Given the description of an element on the screen output the (x, y) to click on. 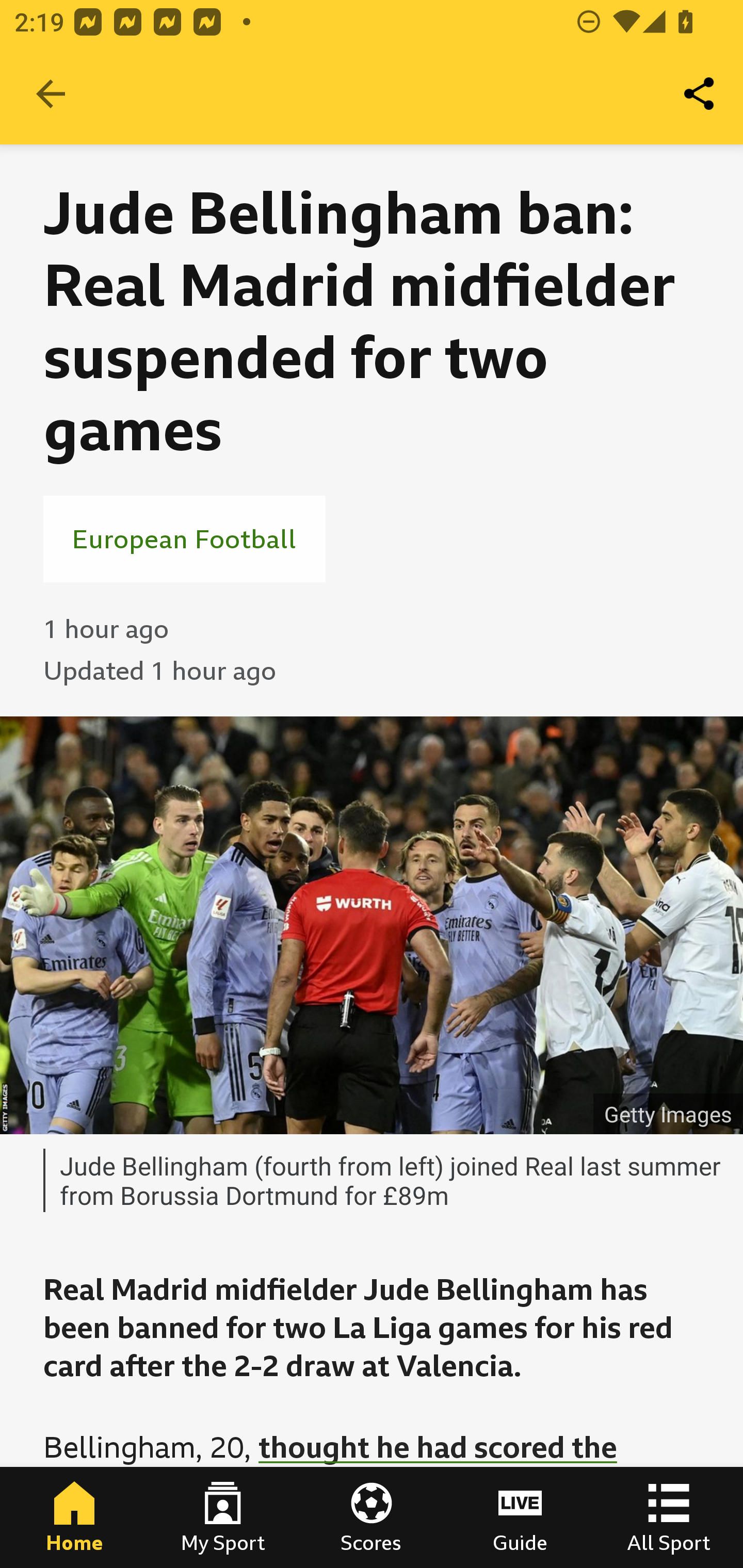
Navigate up (50, 93)
Share (699, 93)
European Football (184, 538)
My Sport (222, 1517)
Scores (371, 1517)
Guide (519, 1517)
All Sport (668, 1517)
